Given the description of an element on the screen output the (x, y) to click on. 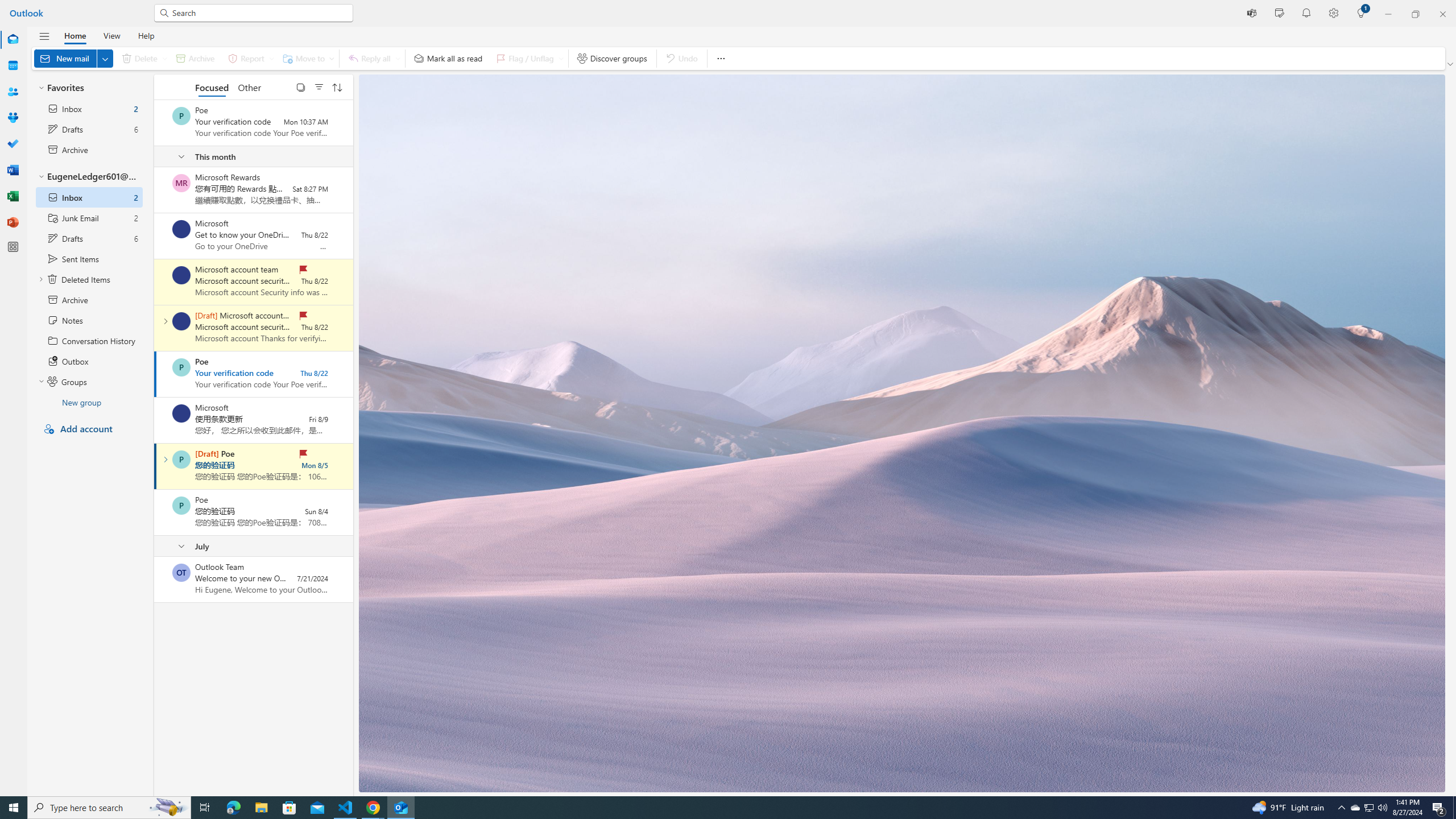
Other (248, 86)
Undo (681, 58)
Microsoft account team (180, 321)
